Given the description of an element on the screen output the (x, y) to click on. 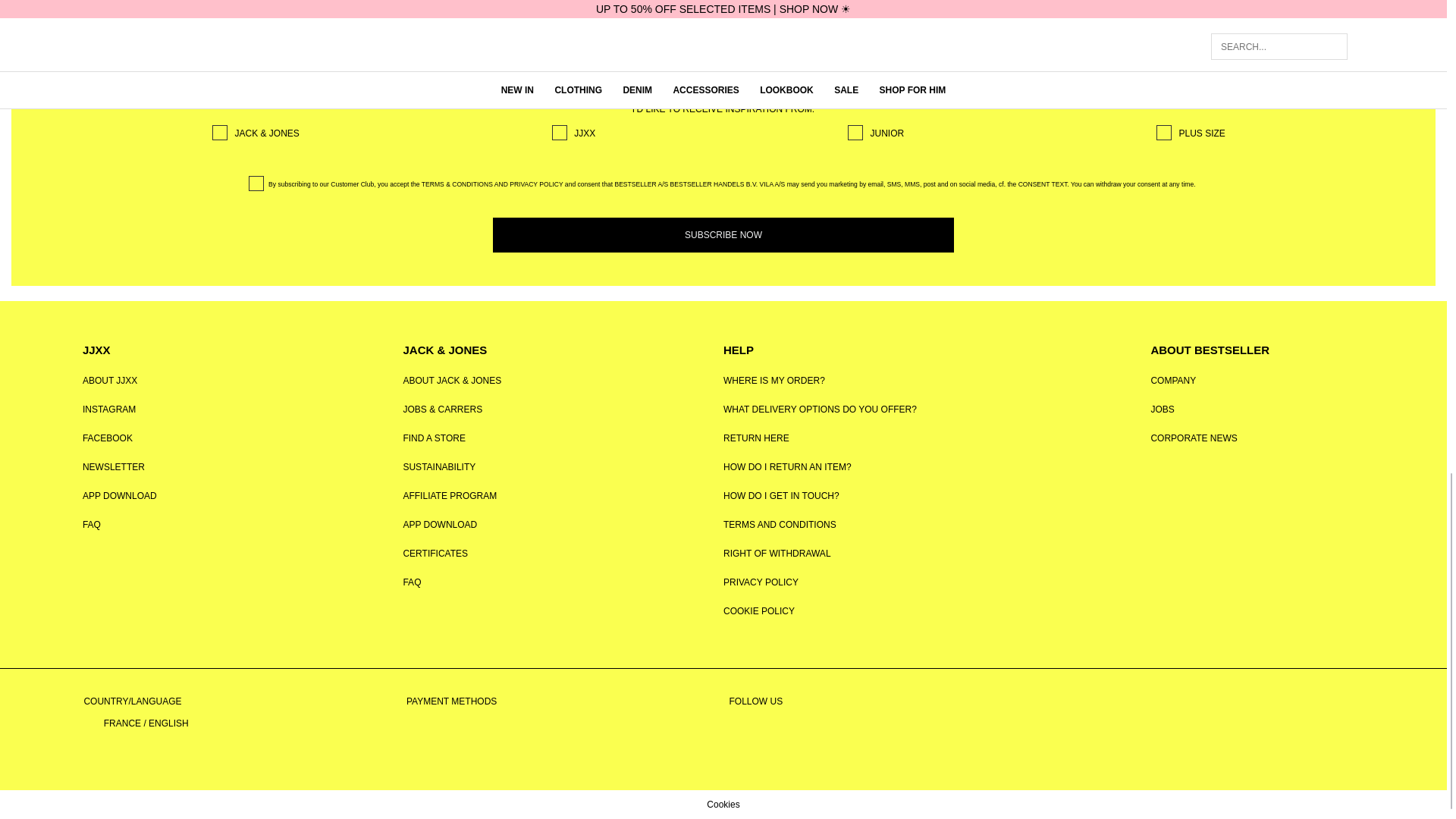
on (219, 132)
on (855, 132)
on (559, 132)
FIND A STORE (433, 438)
CONSENT TEXT (1042, 184)
FAQ (91, 524)
ABOUT JJXX (109, 380)
on (1164, 132)
NEWSLETTER (113, 466)
on (255, 183)
INSTAGRAM (108, 409)
APP DOWNLOAD (119, 495)
SUBSCRIBE NOW (723, 234)
FACEBOOK (107, 438)
